Given the description of an element on the screen output the (x, y) to click on. 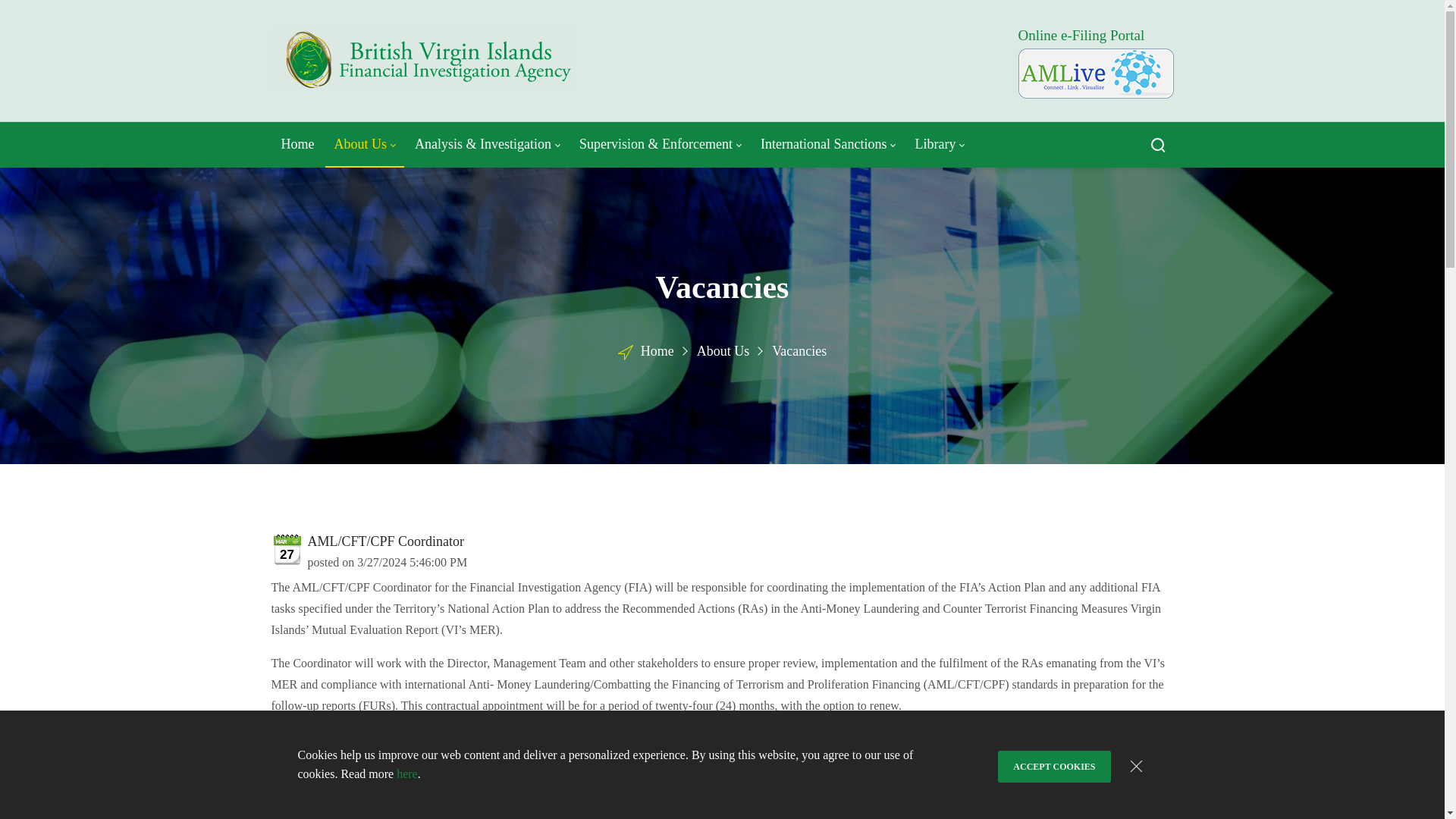
Home (297, 144)
British Virgin Islands Financial Investigation Agency (422, 60)
International Sanctions (827, 144)
Search (1157, 144)
About Us (365, 144)
